Given the description of an element on the screen output the (x, y) to click on. 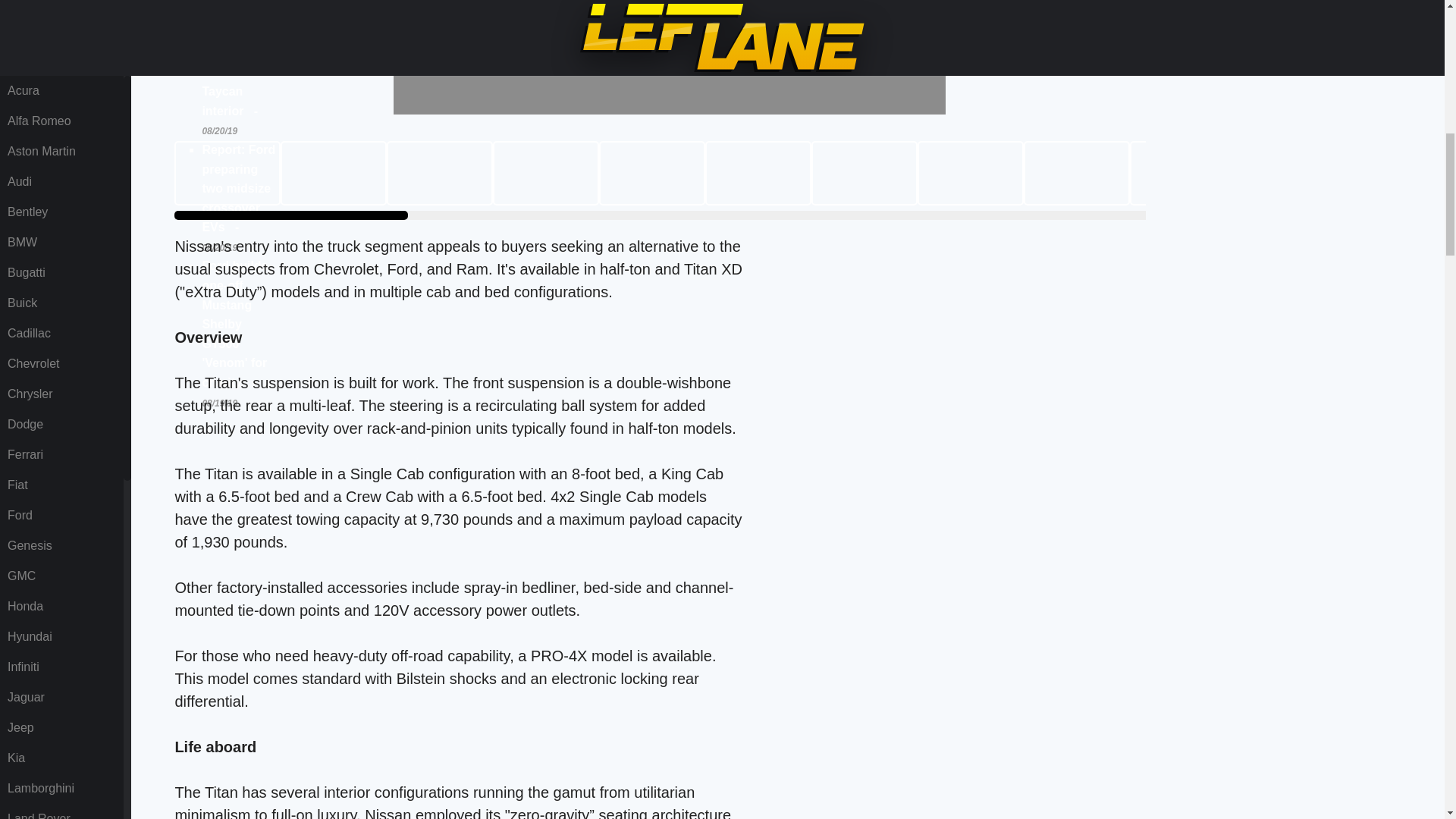
Maserati (61, 91)
Lincoln (61, 60)
Rolls-Royce (61, 424)
Mitsubishi (61, 303)
Mazda (61, 121)
Mercedes-AMG (61, 182)
Porsche (61, 363)
Nissan (61, 333)
Ram (61, 394)
MINI (61, 272)
